Given the description of an element on the screen output the (x, y) to click on. 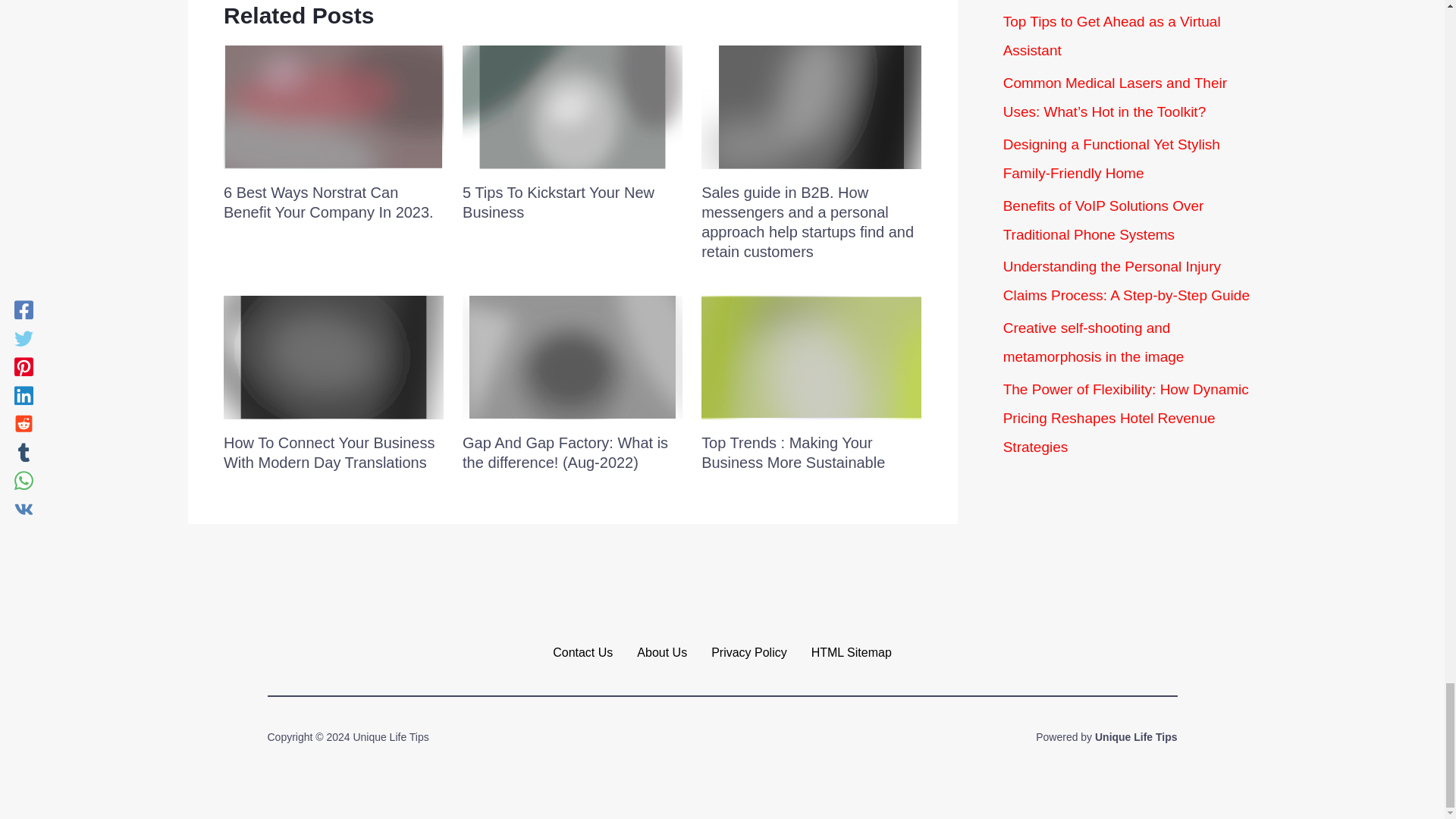
Business 11zon (811, 357)
B2B (811, 106)
New Business (572, 106)
Translation 11zon (334, 357)
FotoJet 2022 01 01T132255.966 (334, 106)
Gap 11zon e1661422719723 (572, 357)
